Given the description of an element on the screen output the (x, y) to click on. 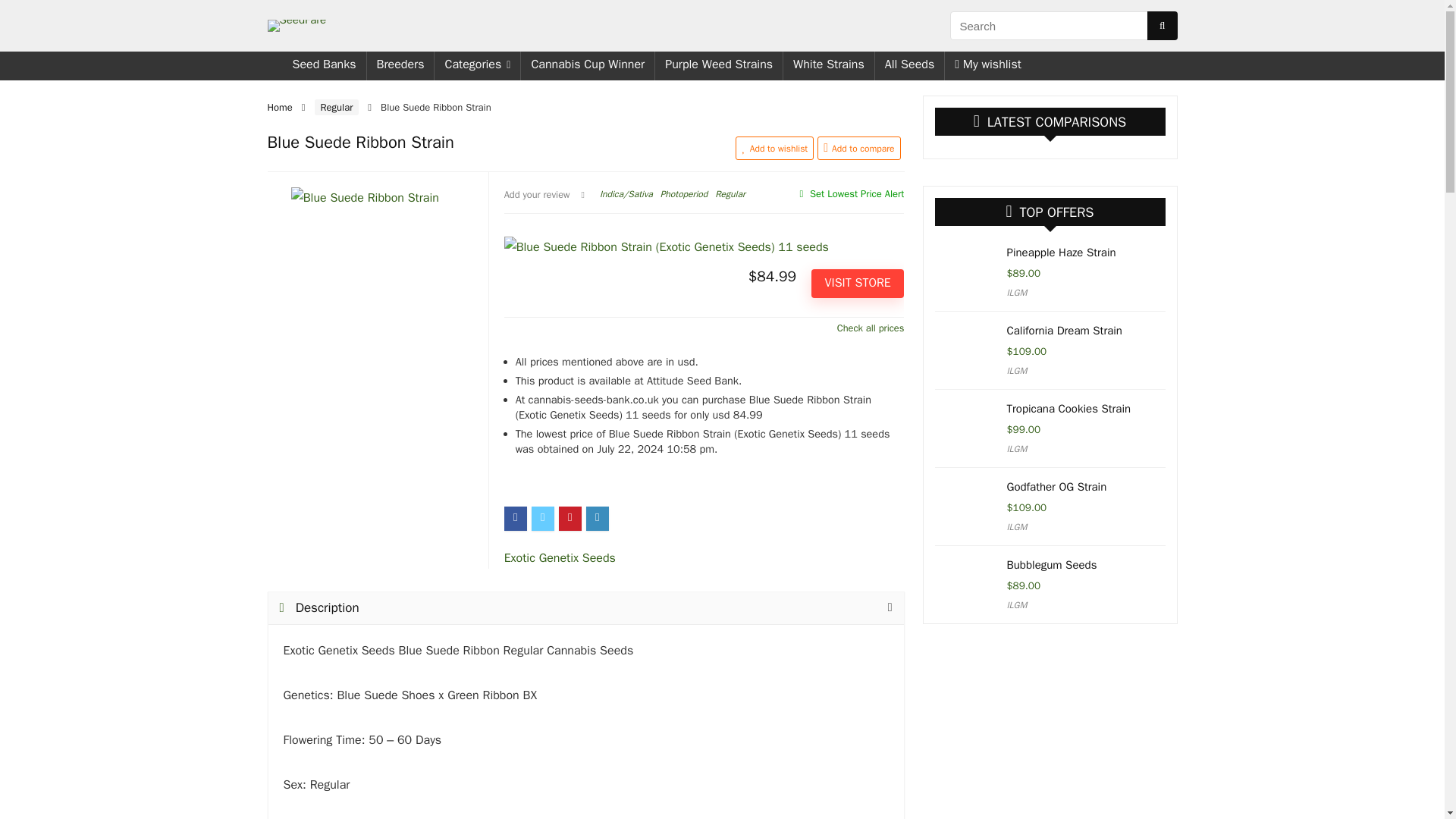
VISIT STORE (857, 283)
All Seeds (909, 65)
Purple Weed Strains (719, 65)
View brand (559, 557)
Categories (476, 65)
View all posts in Photoperiod (684, 193)
White Strains (829, 65)
Home (279, 106)
Cannabis Cup Winner (587, 65)
Check all prices (703, 328)
View all posts in Regular (729, 193)
Regular (729, 193)
Seed Banks (323, 65)
Photoperiod (684, 193)
Add your review (536, 194)
